Given the description of an element on the screen output the (x, y) to click on. 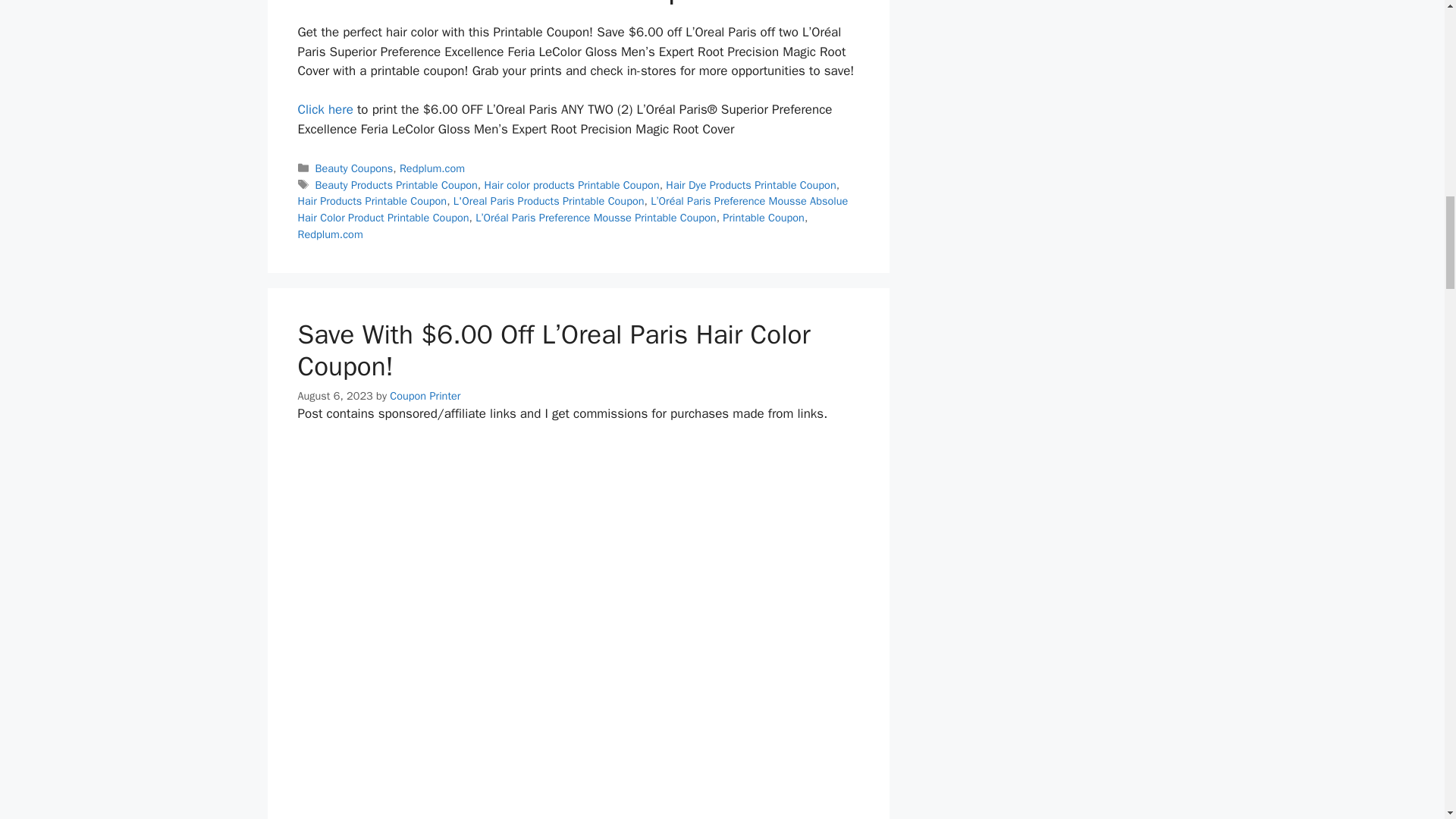
View all posts by Coupon Printer (425, 395)
